Given the description of an element on the screen output the (x, y) to click on. 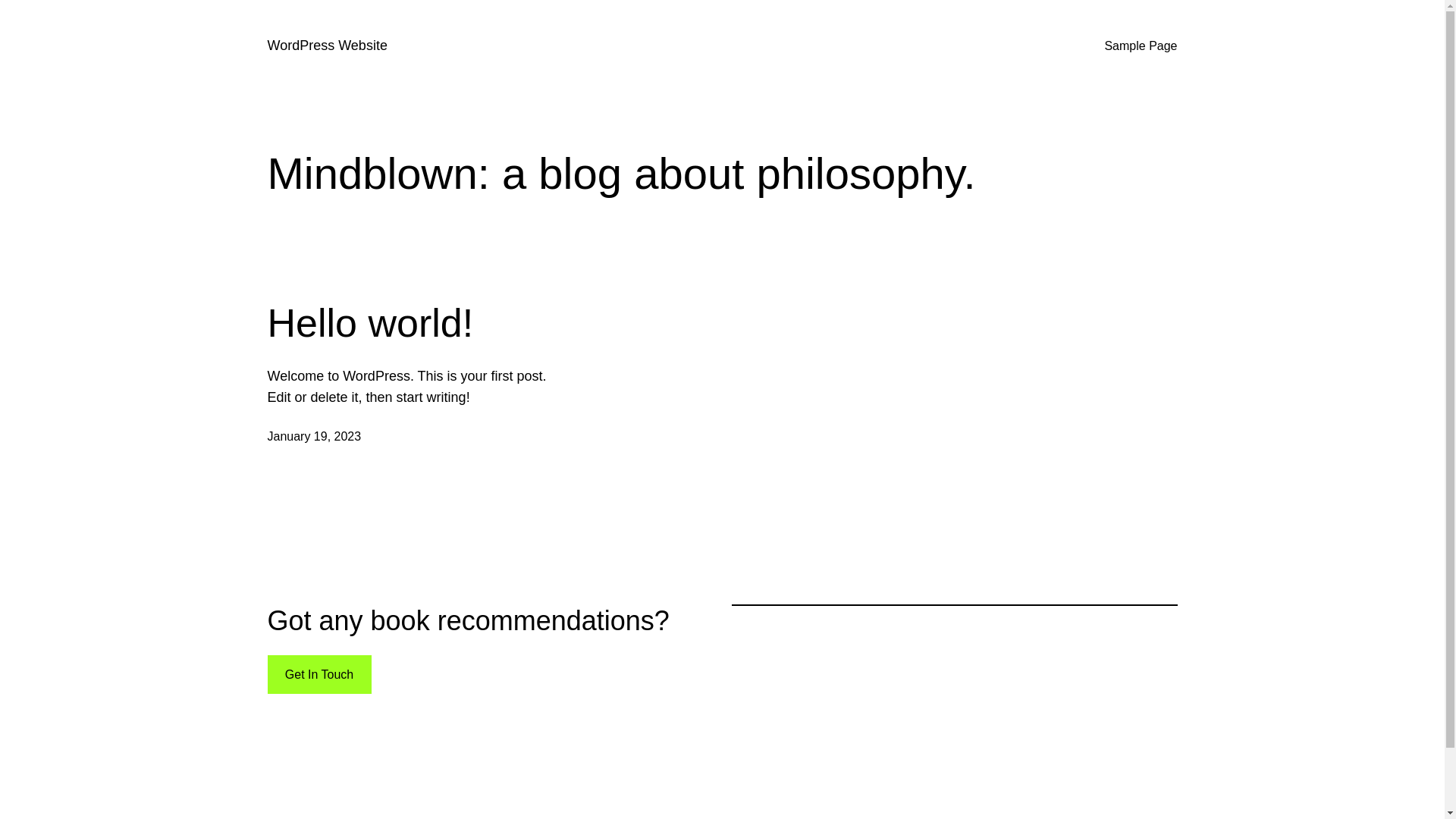
January 19, 2023 Element type: text (313, 435)
Get In Touch Element type: text (318, 674)
WordPress Website Element type: text (326, 45)
Hello world! Element type: text (369, 322)
Sample Page Element type: text (1140, 46)
